Given the description of an element on the screen output the (x, y) to click on. 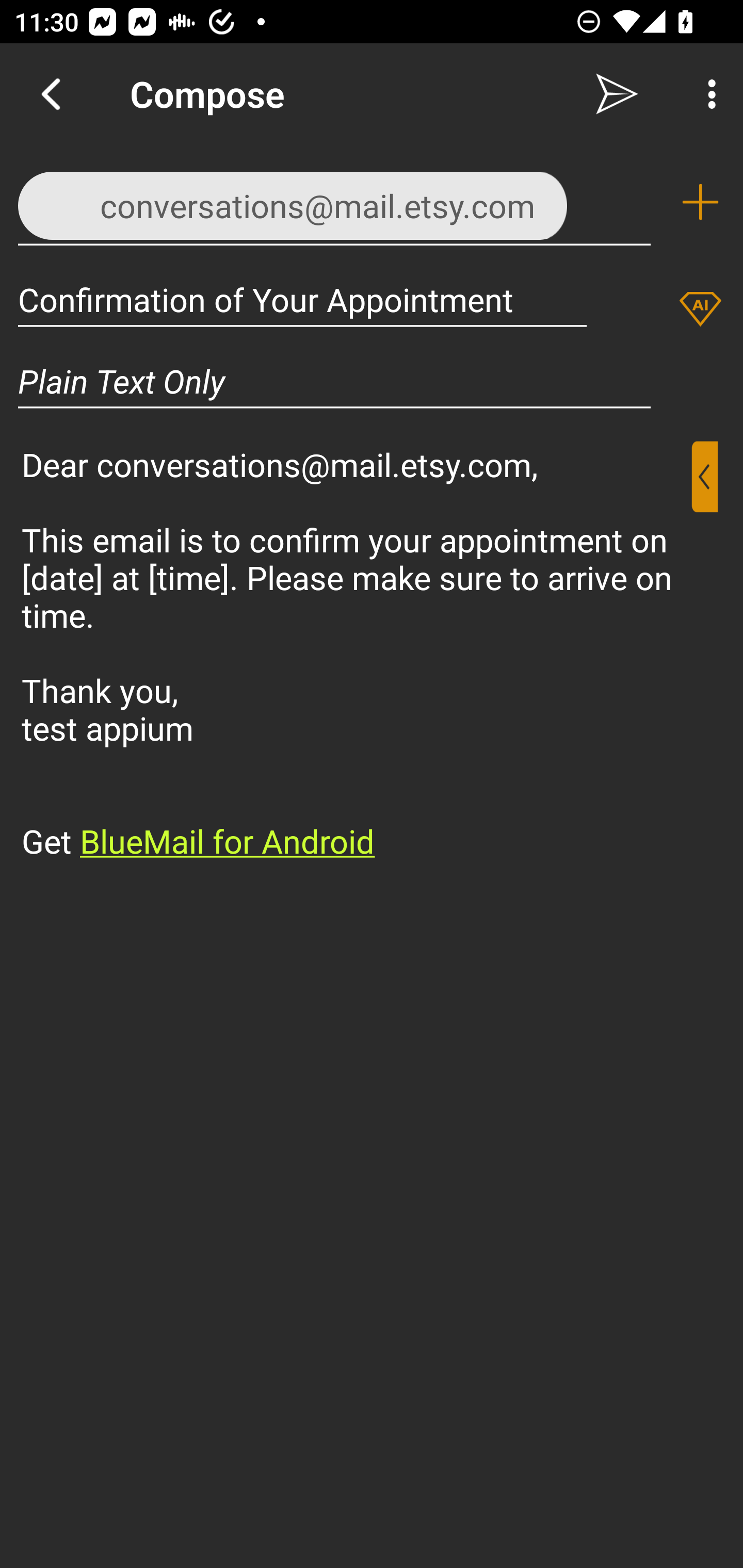
Navigate up (50, 93)
Send (616, 93)
More Options (706, 93)
<conversations@mail.etsy.com>,  (334, 201)
Add recipient (To) (699, 201)
Confirmation of Your Appointment (302, 299)
Plain Text Only (371, 380)
